Given the description of an element on the screen output the (x, y) to click on. 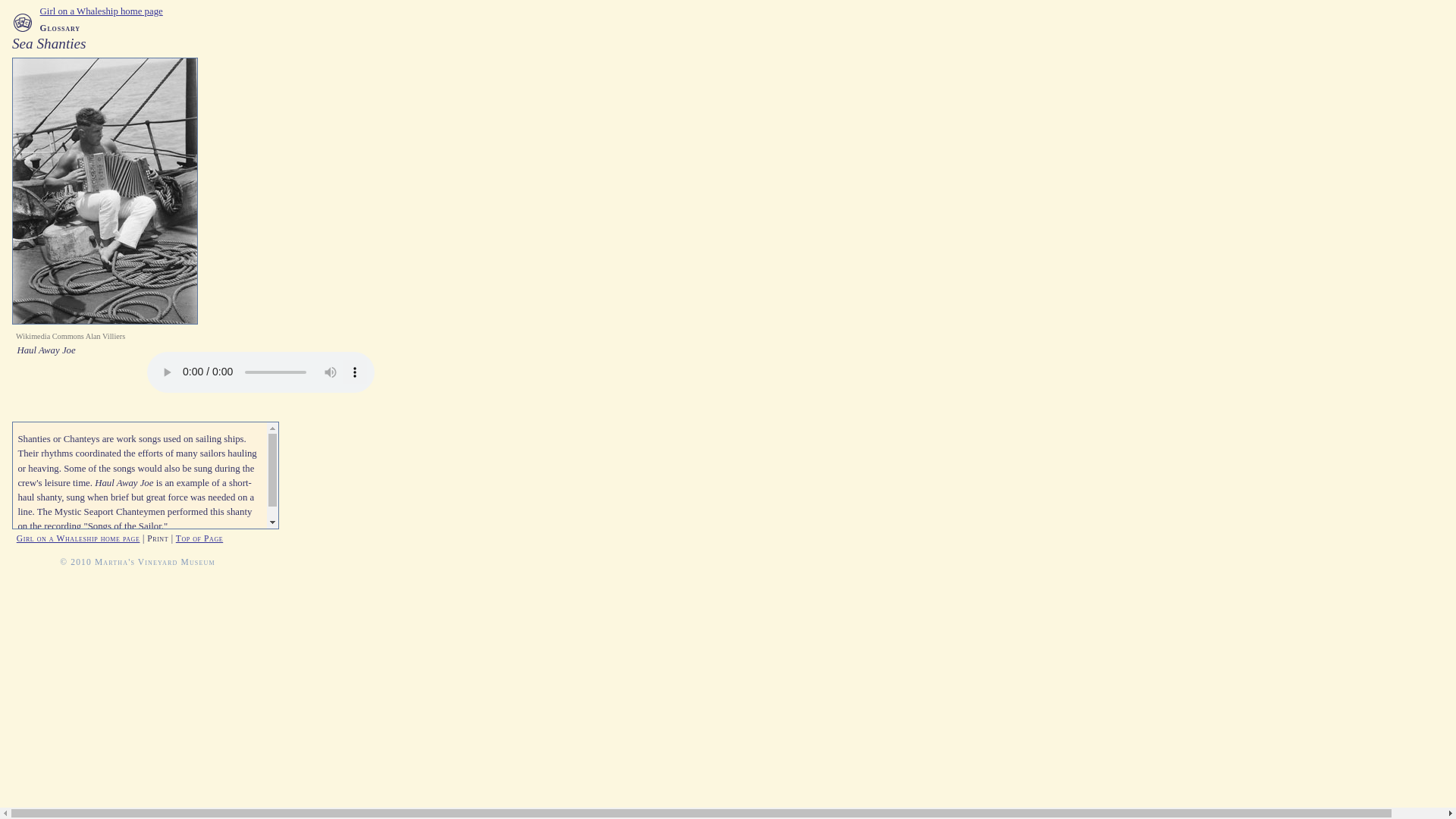
Print (157, 537)
Girl on a Whaleship home page (77, 537)
Top of Page (199, 537)
Girl on a Whaleship home page (101, 10)
